Given the description of an element on the screen output the (x, y) to click on. 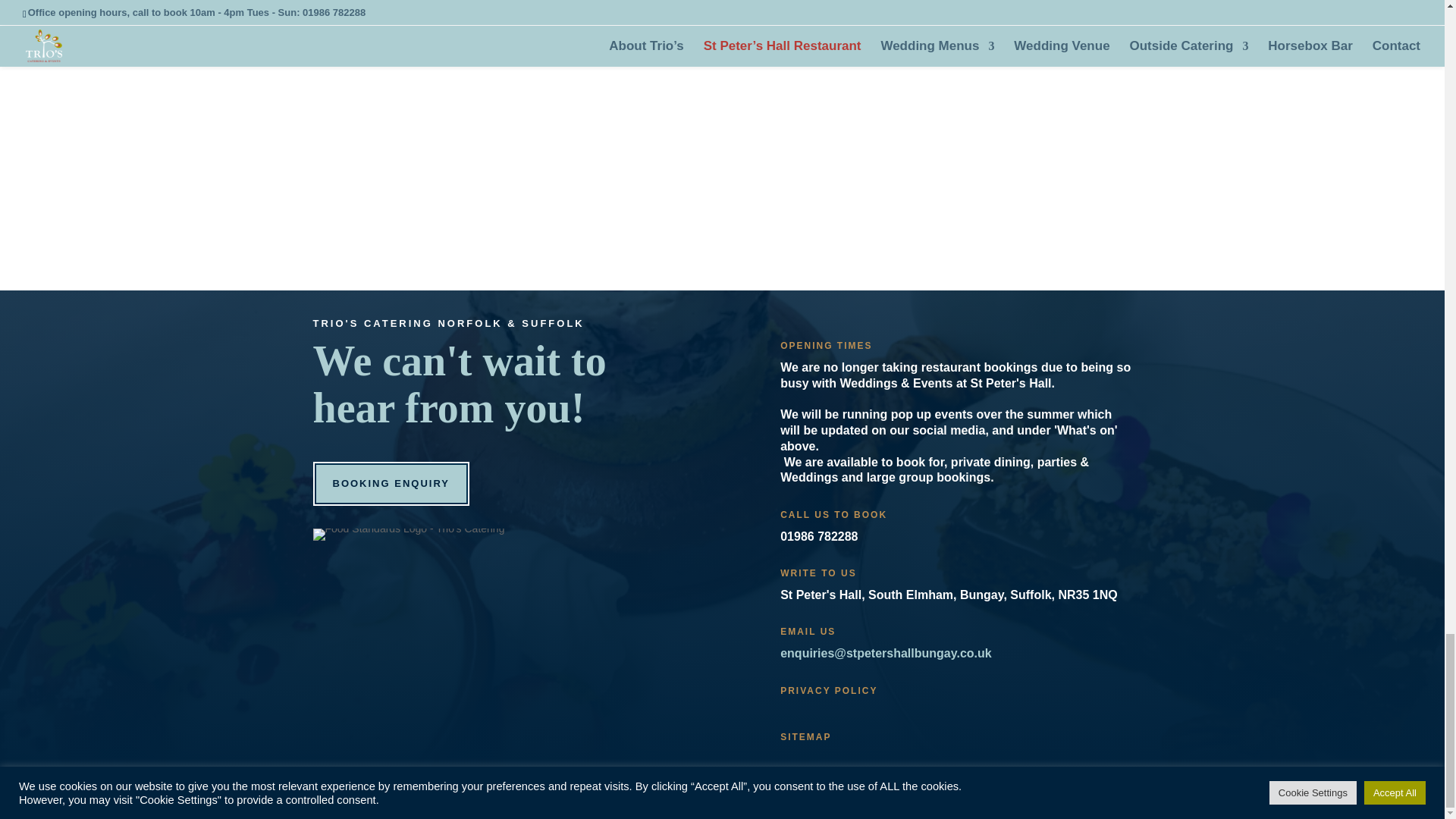
Food Standards Logo - Trio's Catering (408, 534)
